Given the description of an element on the screen output the (x, y) to click on. 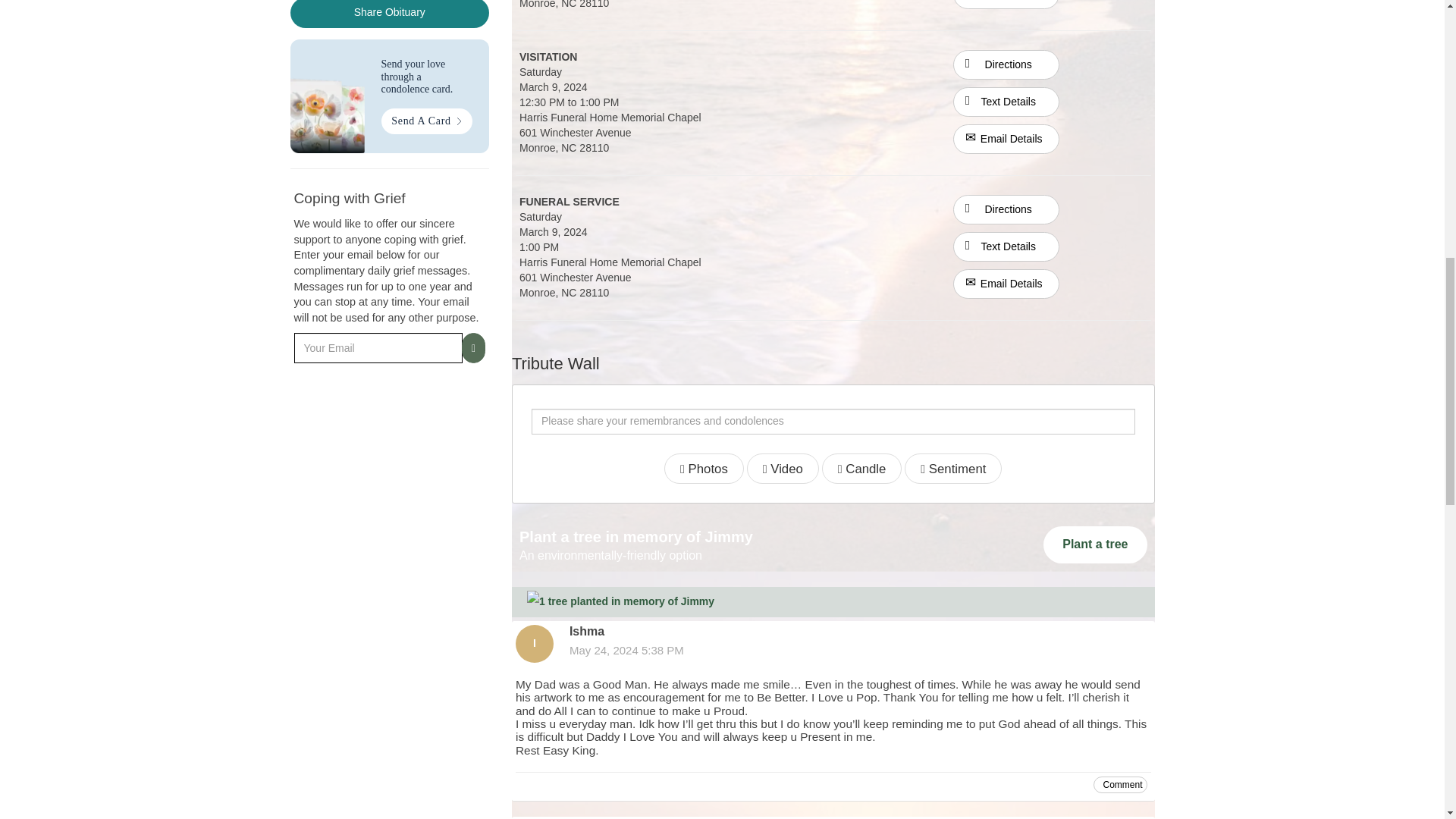
Email Details (1006, 283)
Directions (1006, 63)
Send A Card (425, 121)
Email Details (1006, 4)
Text Details (1006, 101)
Directions (1006, 208)
Directions (1006, 209)
Directions (1006, 64)
Share Obituary (389, 13)
Text Details (1006, 246)
Email Details (1006, 138)
Ishma (534, 643)
